Given the description of an element on the screen output the (x, y) to click on. 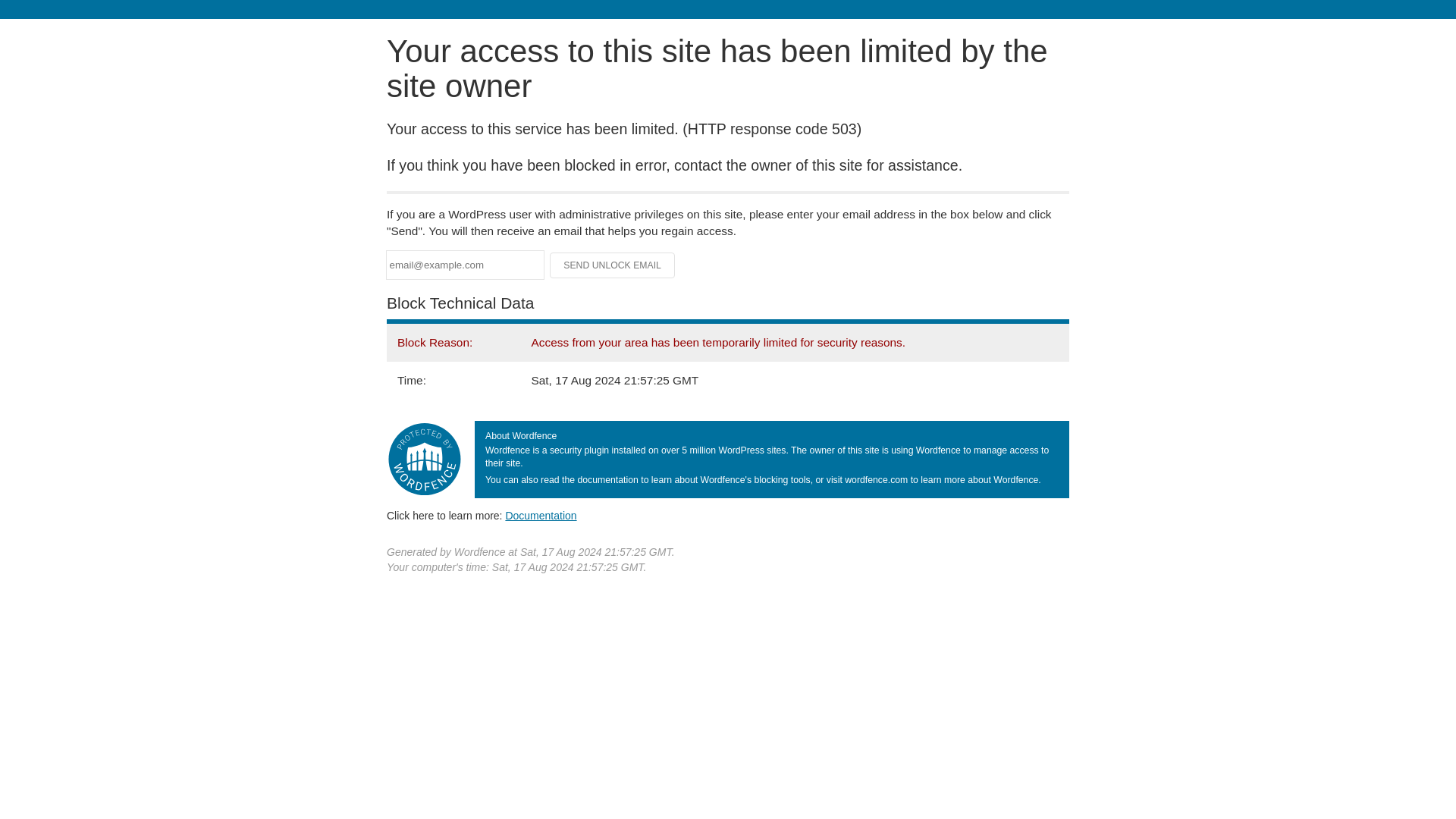
Documentation (540, 515)
Send Unlock Email (612, 265)
Send Unlock Email (612, 265)
